Given the description of an element on the screen output the (x, y) to click on. 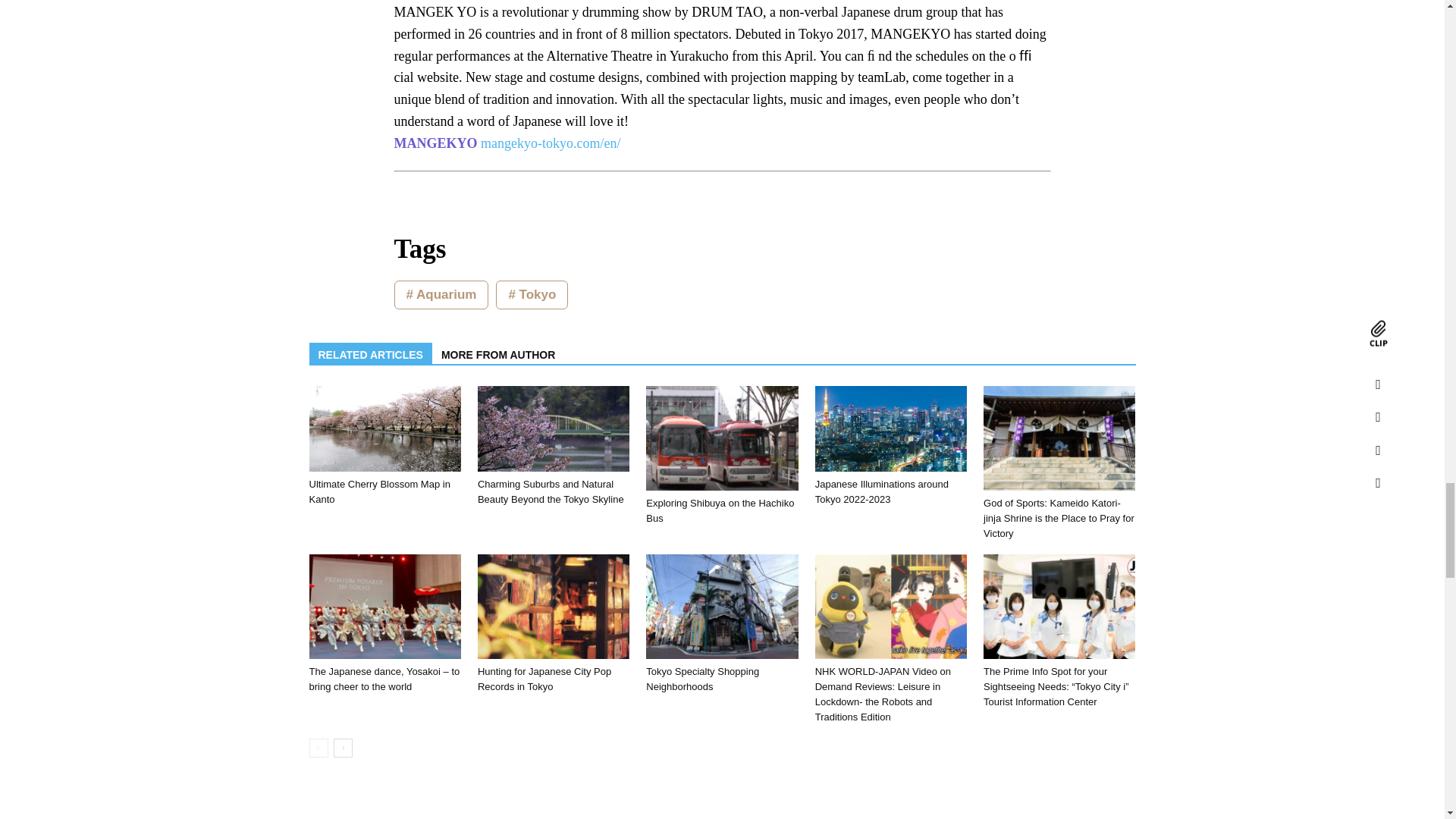
Exploring Shibuya on the Hachiko Bus (719, 510)
Exploring Shibuya on the Hachiko Bus (721, 437)
Ultimate Cherry Blossom Map in Kanto (384, 428)
Ultimate Cherry Blossom Map in Kanto (378, 491)
Japanese Illuminations around Tokyo 2022-2023 (890, 428)
